Given the description of an element on the screen output the (x, y) to click on. 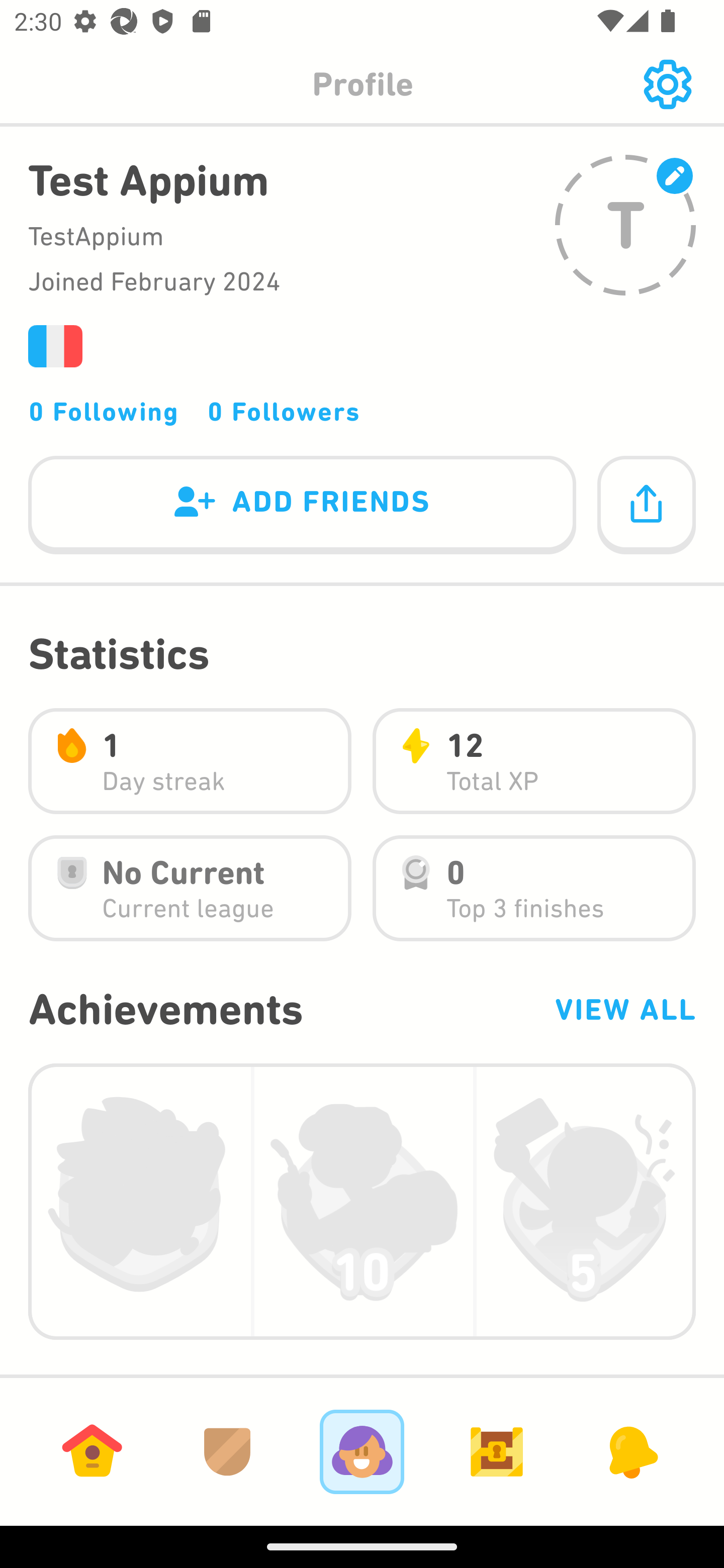
Settings (667, 84)
0 Following (103, 411)
0 Followers (283, 411)
ADD FRIENDS (302, 505)
1 Day streak (189, 760)
VIEW ALL (624, 1009)
Learn Tab (91, 1451)
Leagues Tab (227, 1451)
Profile Tab (361, 1451)
Goals Tab (496, 1451)
News Tab (631, 1451)
